Given the description of an element on the screen output the (x, y) to click on. 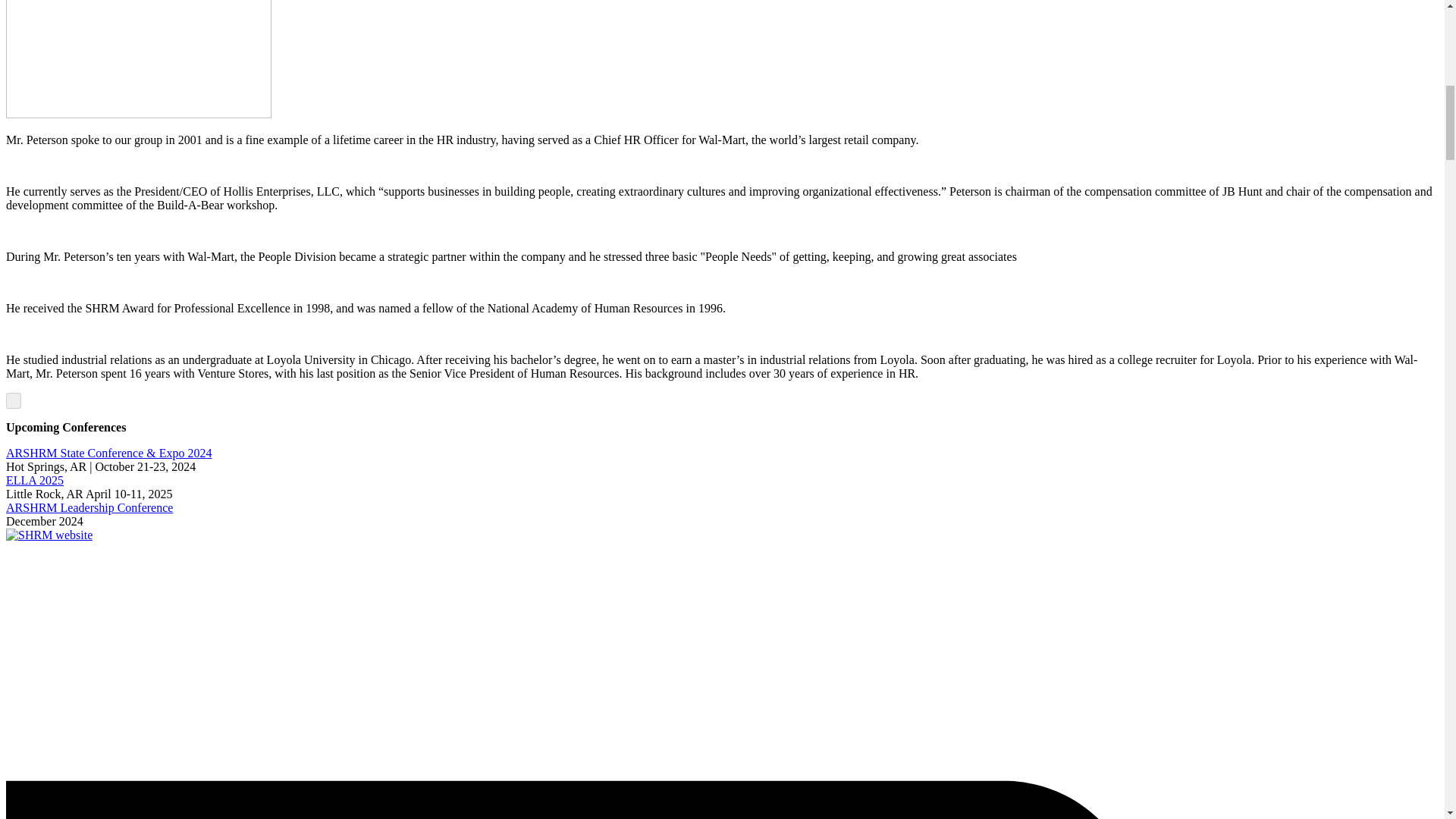
ELLA 2025 (34, 480)
ARSHRM Leadership Conference (89, 507)
Return to the top of the page. (13, 400)
